Given the description of an element on the screen output the (x, y) to click on. 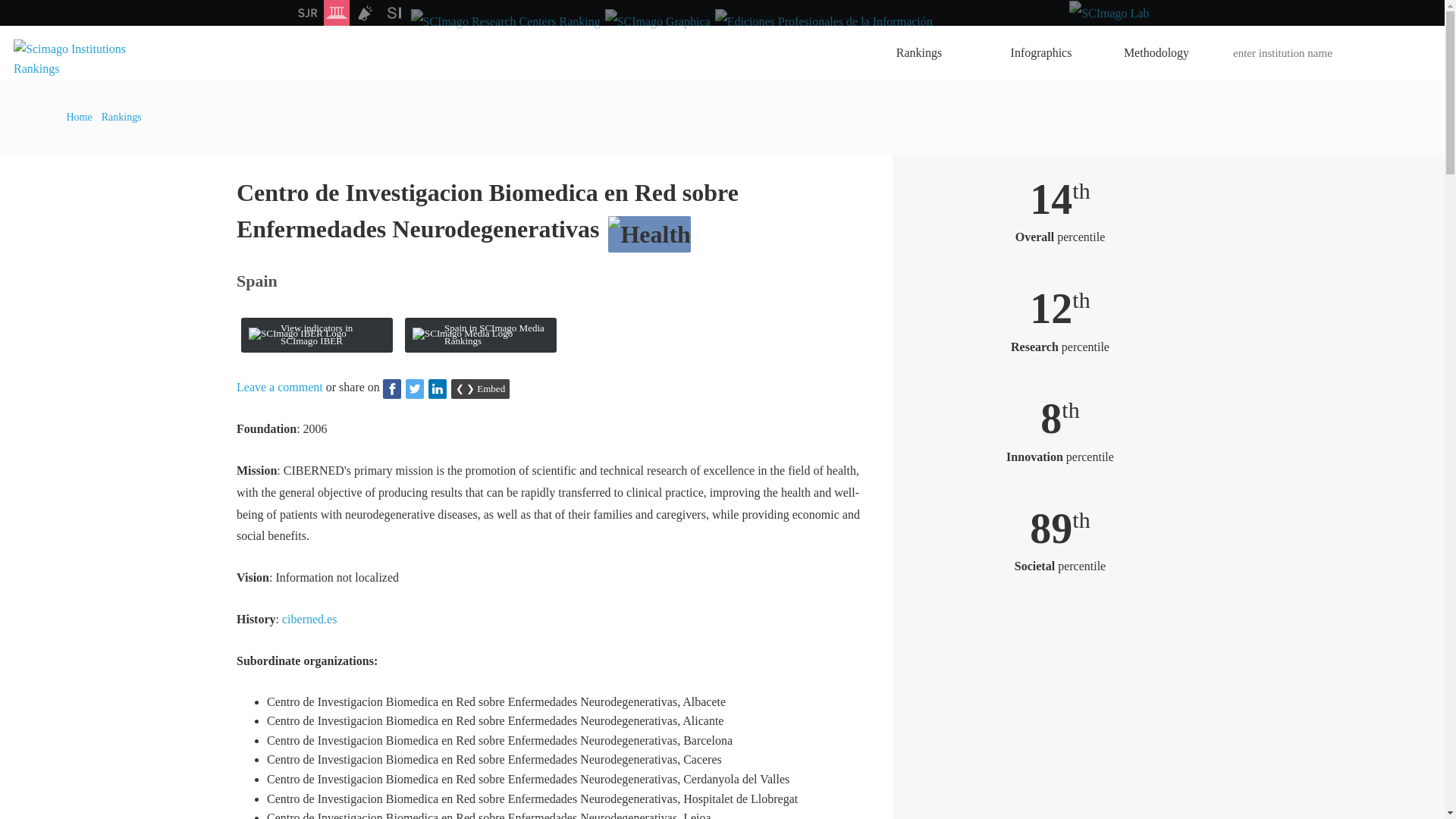
Spain in SCImago Media Rankings (480, 334)
Home (79, 116)
View indicators in SCImago IBER (317, 334)
visit SCImagoIBER (317, 334)
Methodology (1156, 52)
visit SCImago Media Rankings - Spain (480, 334)
ciberned.es (309, 618)
Rankings (925, 52)
Health (649, 234)
Rankings (121, 116)
